Given the description of an element on the screen output the (x, y) to click on. 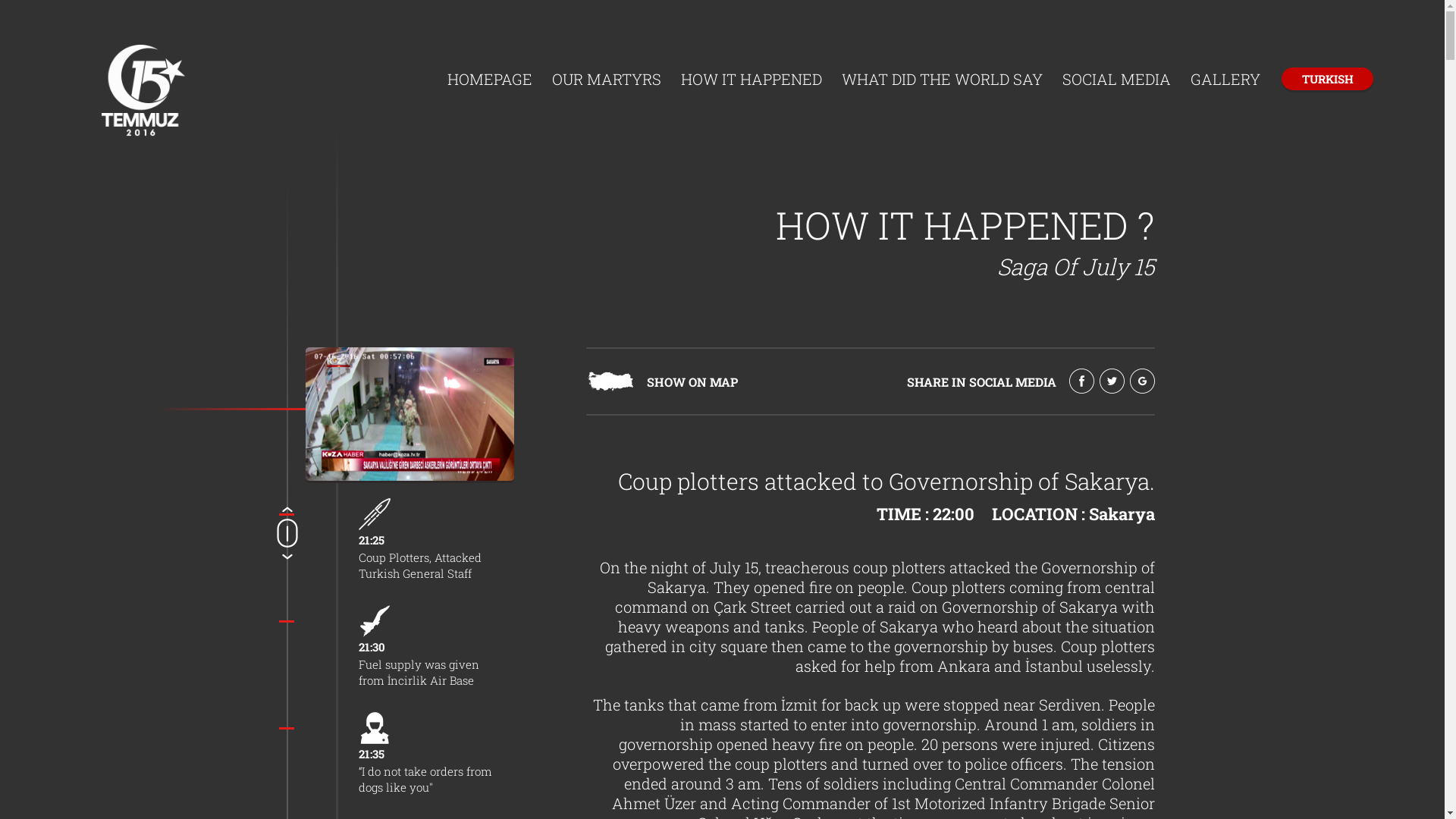
WHAT DID THE WORLD SAY Element type: text (941, 79)
HOW IT HAPPENED Element type: text (751, 79)
HOMEPAGE Element type: text (489, 79)
TURKISH Element type: text (1327, 78)
SOCIAL MEDIA Element type: text (1116, 79)
OUR MARTYRS Element type: text (606, 79)
SHOW ON MAP Element type: hover (609, 386)
GALLERY Element type: text (1225, 79)
21:25
Coup Plotters, Attacked Turkish General Staff Element type: text (425, 539)
